Given the description of an element on the screen output the (x, y) to click on. 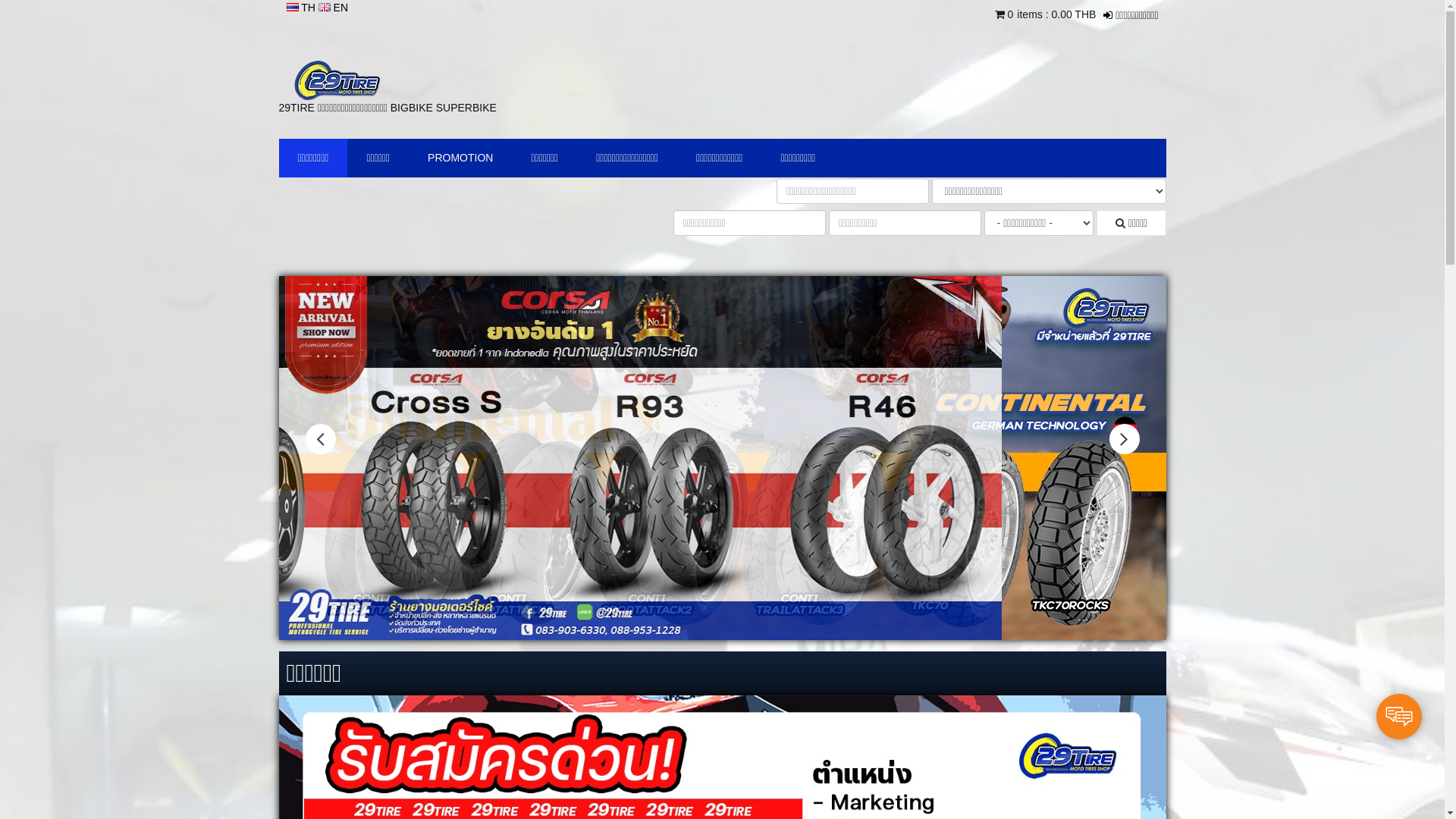
 TH Element type: text (302, 7)
 EN Element type: text (333, 7)
NEW ARRIVAL CORSA Element type: hover (722, 458)
PROMOTION Element type: text (459, 157)
  0 0.00 THB Element type: text (1045, 14)
